Given the description of an element on the screen output the (x, y) to click on. 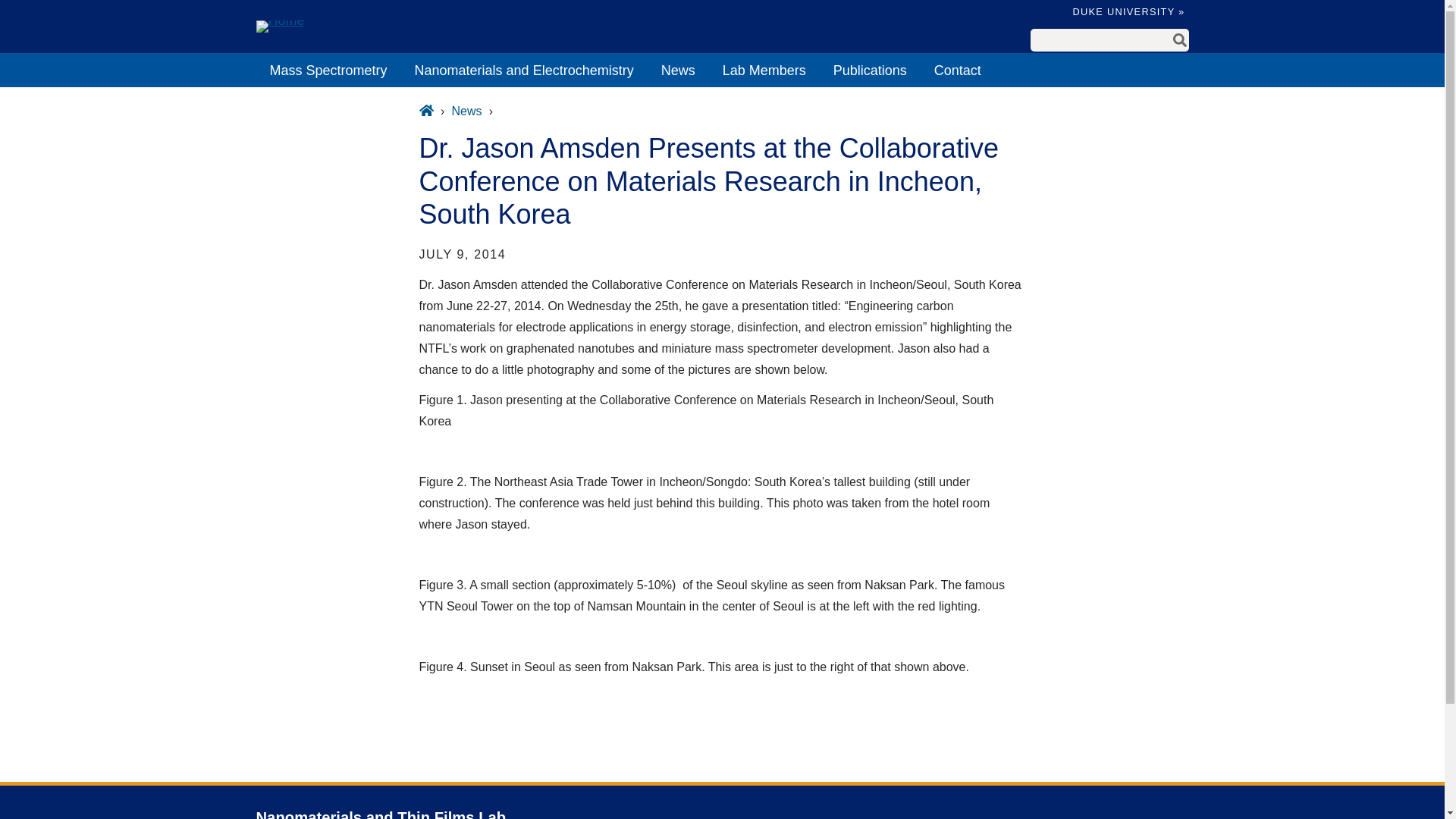
News (678, 69)
News (466, 110)
Enter the terms you wish to search for. (1100, 40)
Search (1179, 39)
Publications (869, 69)
Nanomaterials and Electrochemistry (524, 69)
Mass Spectrometry (328, 69)
Lab Members (764, 69)
Contact (957, 69)
